Given the description of an element on the screen output the (x, y) to click on. 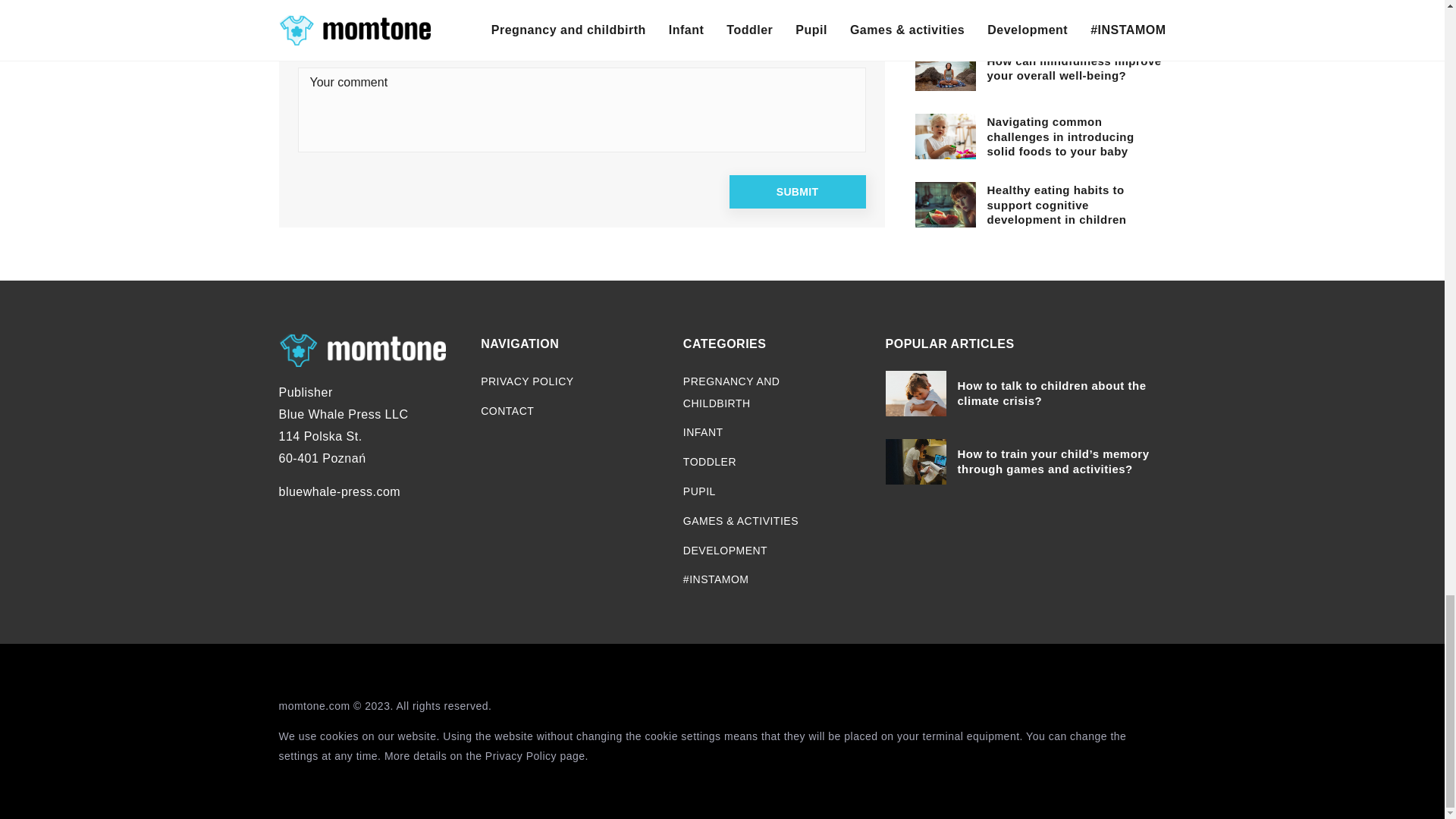
Submit (797, 191)
Submit (797, 191)
